Given the description of an element on the screen output the (x, y) to click on. 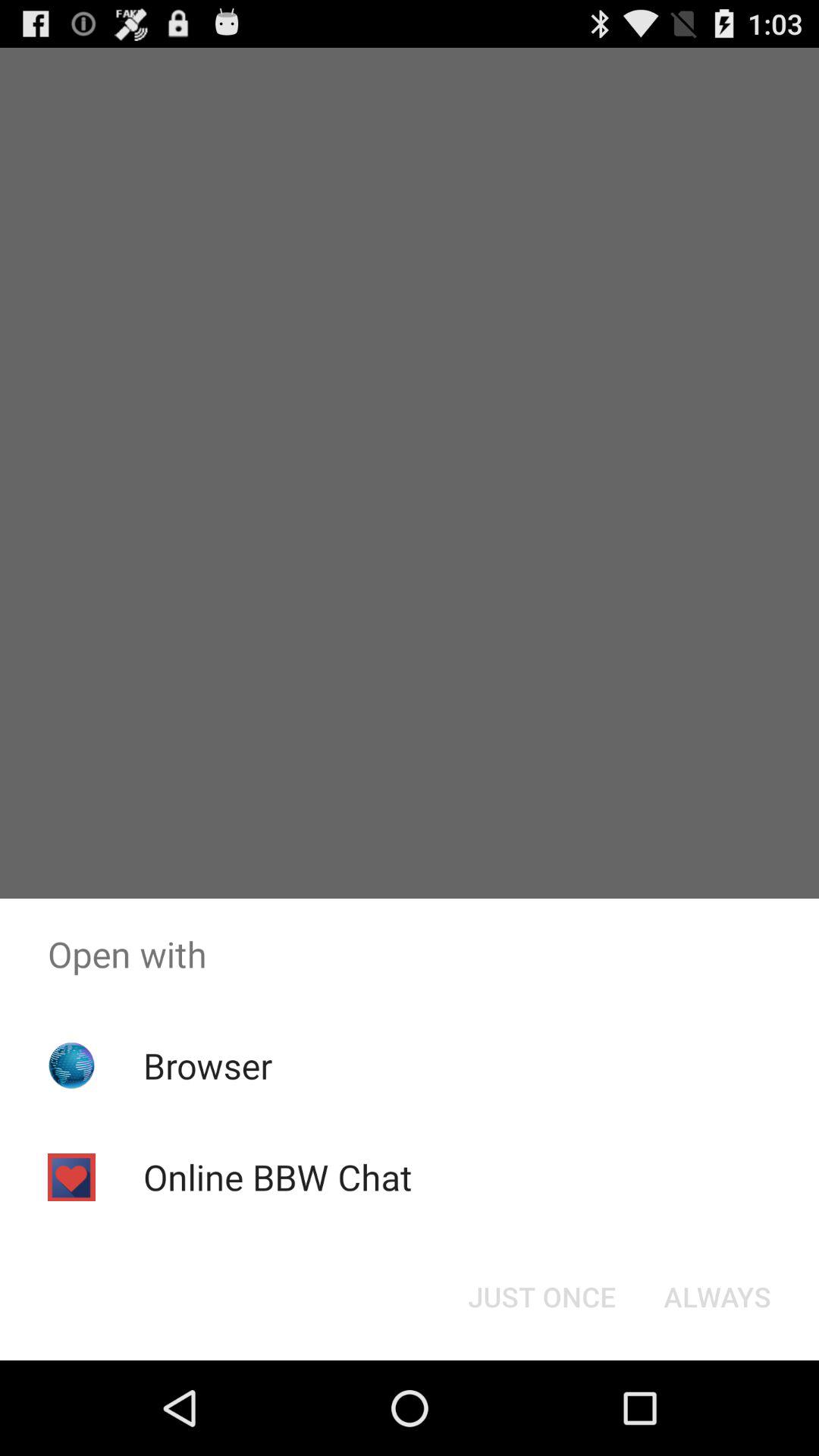
choose the item below the open with item (207, 1065)
